Given the description of an element on the screen output the (x, y) to click on. 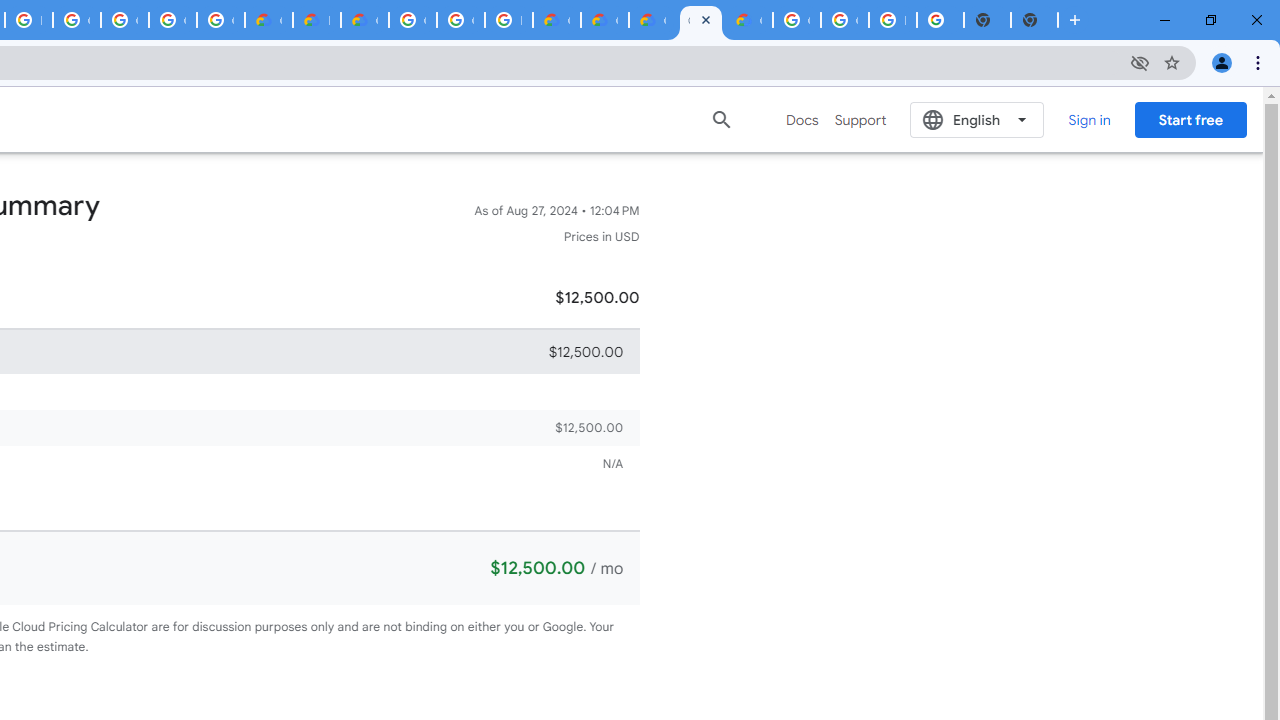
Google Cloud Pricing Calculator (604, 20)
Customer Care | Google Cloud (556, 20)
Google Cloud Estimate Summary (700, 20)
Google Cloud Platform (460, 20)
Google Cloud Estimate Summary (652, 20)
New Tab (1034, 20)
Customer Care | Google Cloud (268, 20)
